Given the description of an element on the screen output the (x, y) to click on. 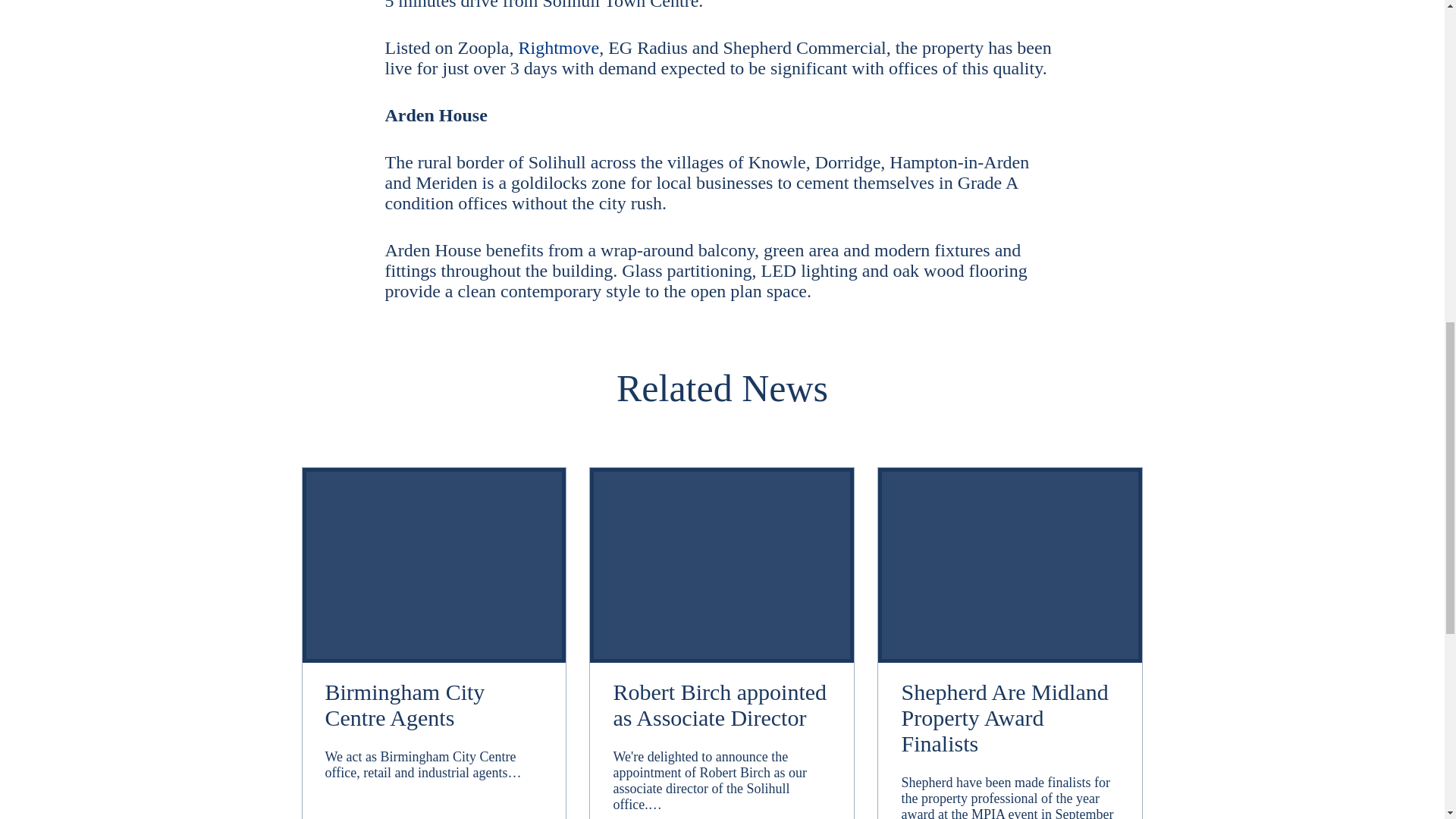
Shepherd Are Midland Property Award Finalists (1010, 720)
Rightmove (558, 47)
Birmingham City Centre Agents (433, 708)
Robert Birch appointed as Associate Director (721, 708)
